Given the description of an element on the screen output the (x, y) to click on. 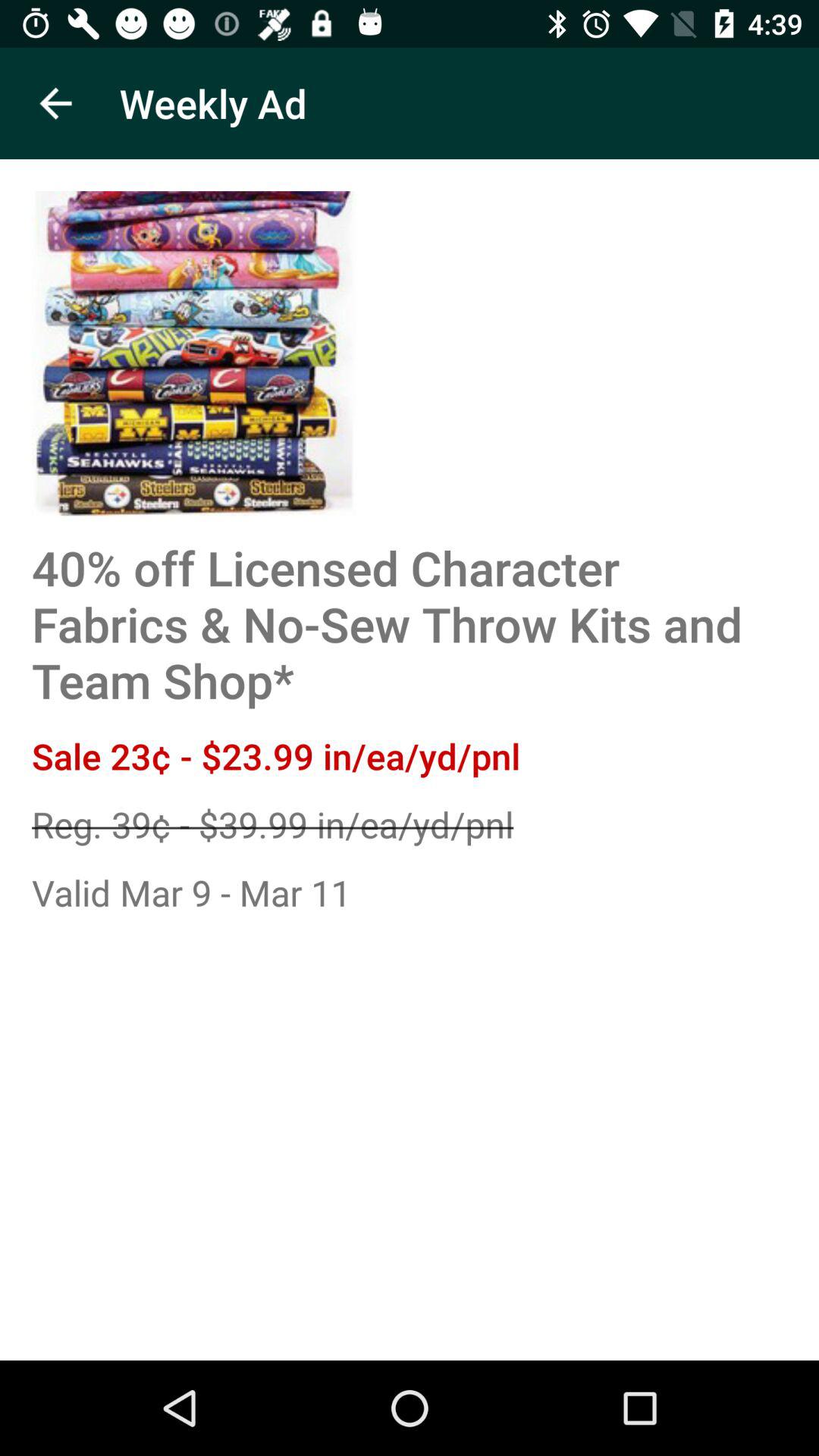
turn off icon next to the weekly ad app (55, 103)
